Given the description of an element on the screen output the (x, y) to click on. 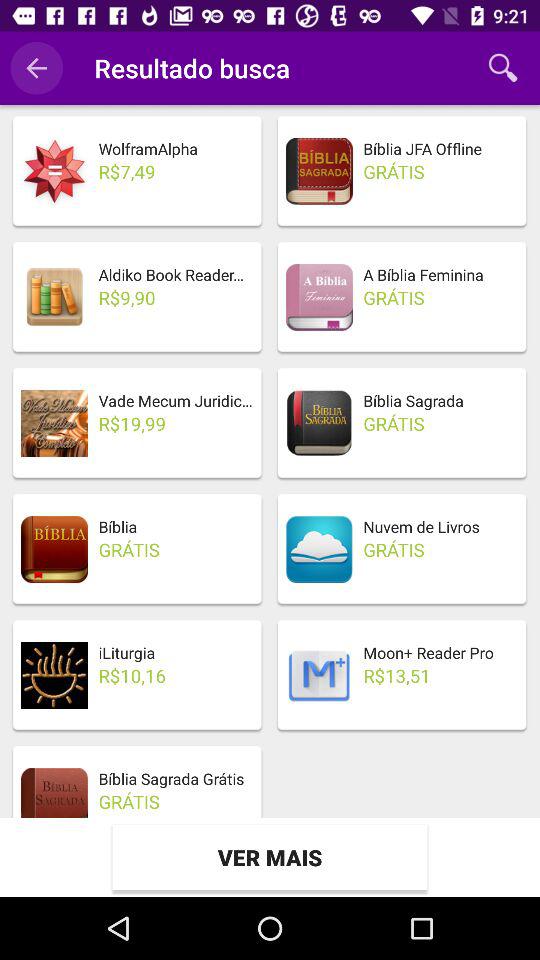
click on the blue icon with a cloud (319, 549)
select the second icon in the second row (319, 297)
